Given the description of an element on the screen output the (x, y) to click on. 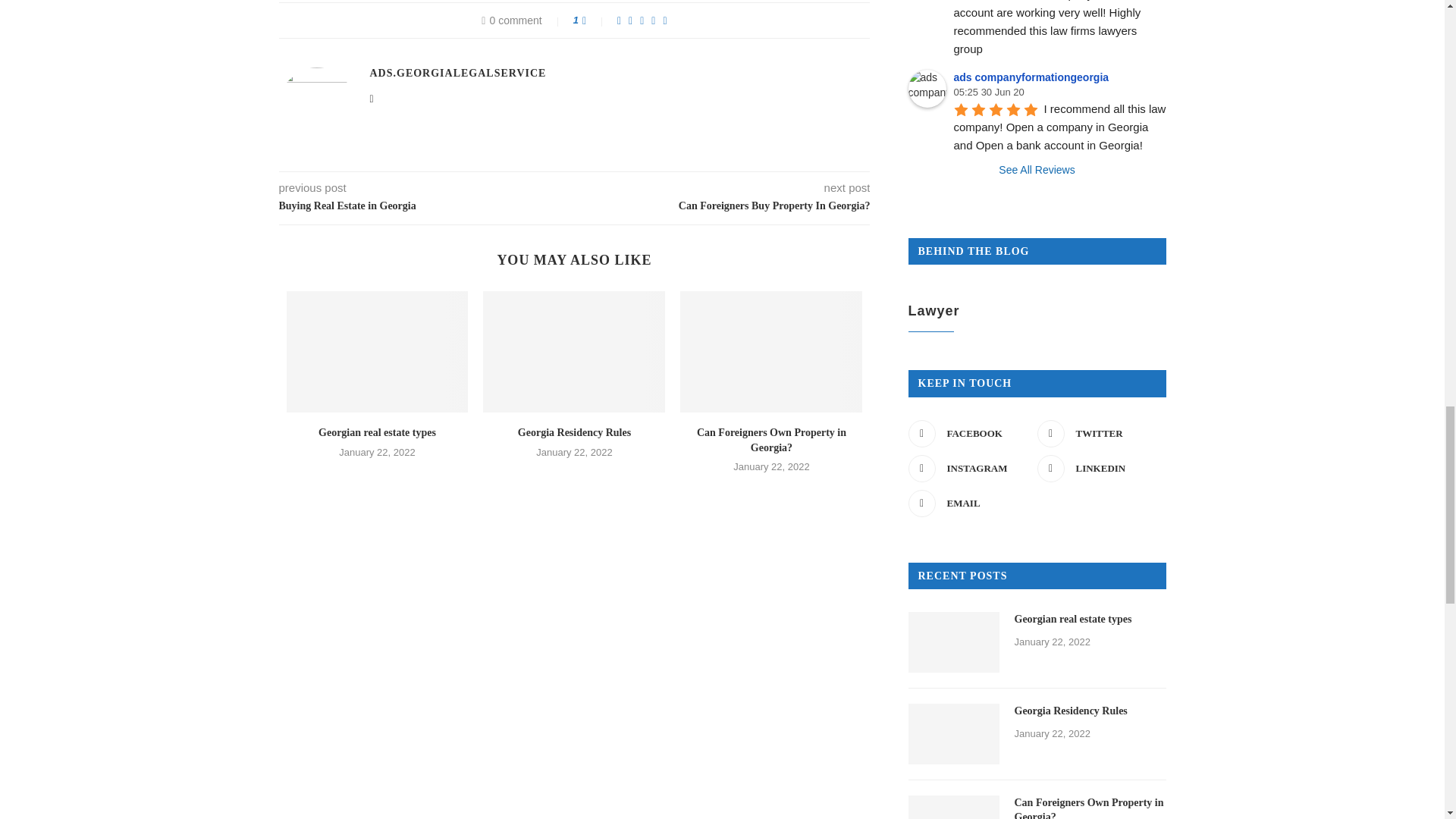
Author ads.georgialegalservice (458, 73)
Georgian real estate types (377, 351)
Georgia Residency Rules (574, 351)
Can Foreigners Own Property in Georgia? (770, 351)
Like (594, 20)
